Given the description of an element on the screen output the (x, y) to click on. 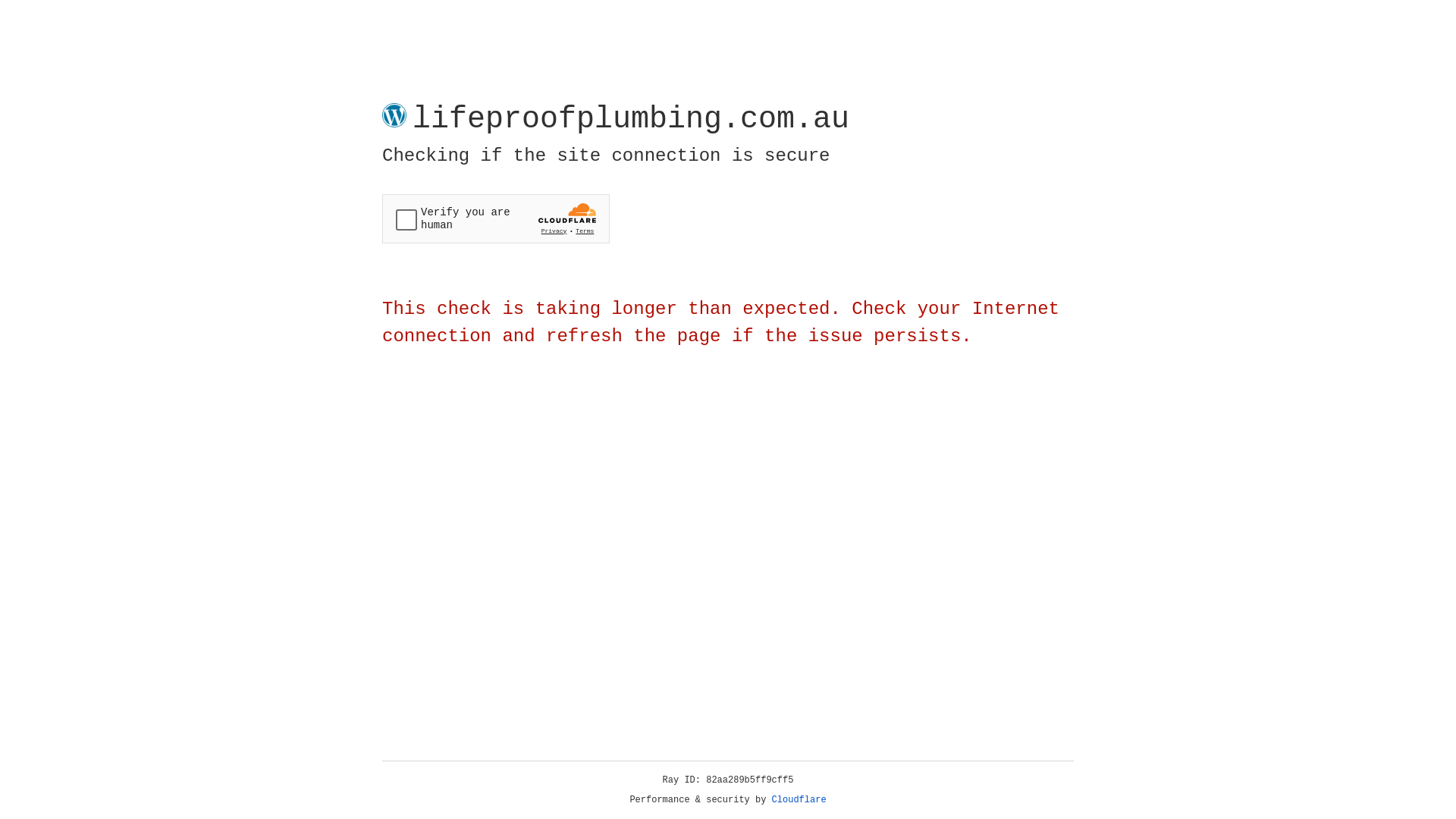
Widget containing a Cloudflare security challenge Element type: hover (495, 218)
Cloudflare Element type: text (798, 799)
